Given the description of an element on the screen output the (x, y) to click on. 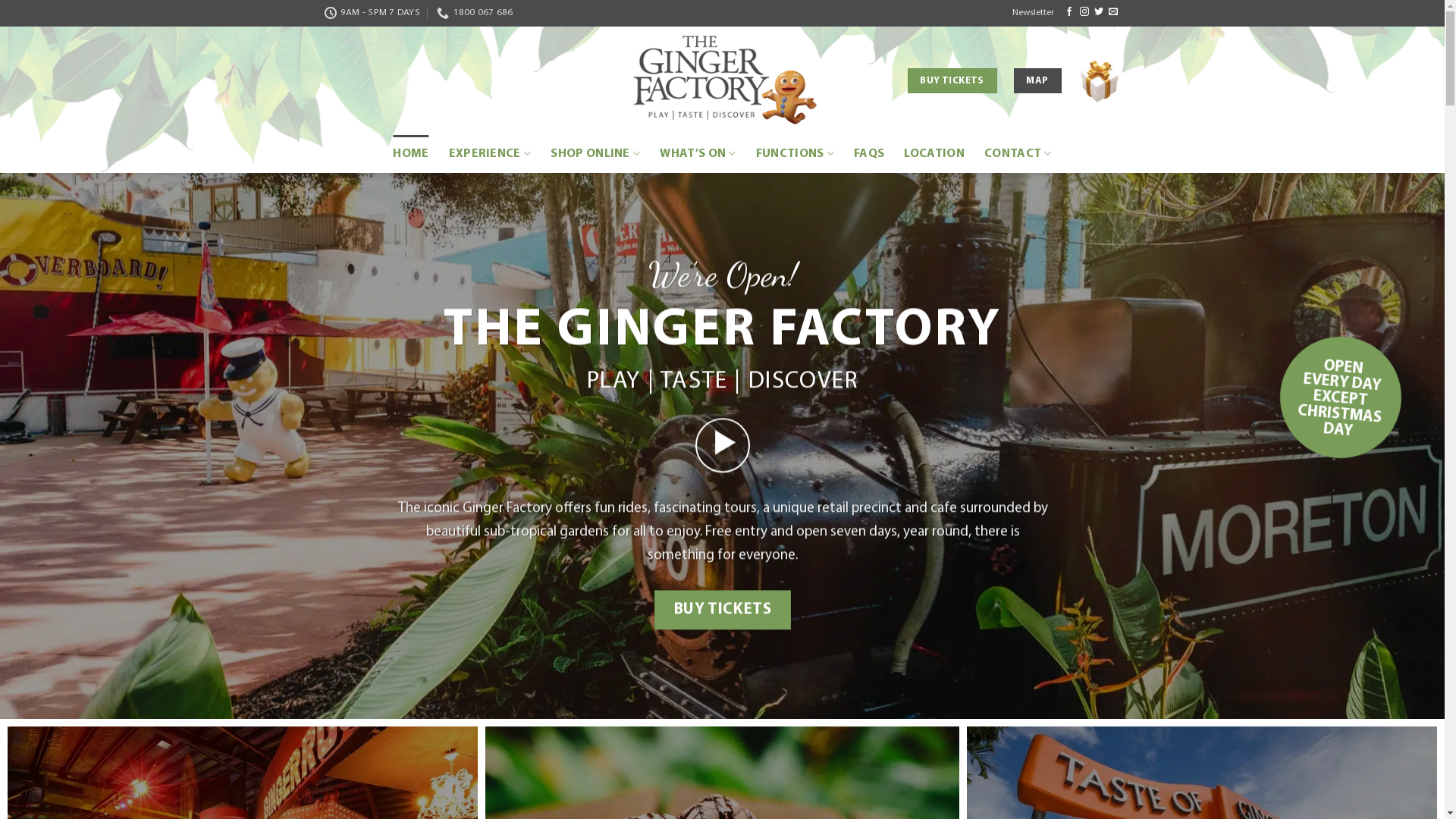
FAQS Element type: text (868, 153)
BUY TICKETS Element type: text (952, 81)
EXPERIENCE Element type: text (489, 153)
9AM - 5PM 7 DAYS Element type: text (372, 12)
Follow on Instagram Element type: hover (1083, 11)
CONTACT Element type: text (1017, 153)
Newsletter Element type: text (1033, 12)
Send us an email Element type: hover (1112, 11)
HOME Element type: text (410, 153)
Follow on Twitter Element type: hover (1098, 11)
FUNCTIONS Element type: text (795, 153)
BUY TICKETS Element type: text (721, 609)
The Ginger Factory Element type: hover (722, 80)
1800 067 686 Element type: text (474, 12)
SHOP ONLINE Element type: text (595, 153)
MAP Element type: text (1037, 81)
Follow on Facebook Element type: hover (1068, 11)
LOCATION Element type: text (933, 153)
